Given the description of an element on the screen output the (x, y) to click on. 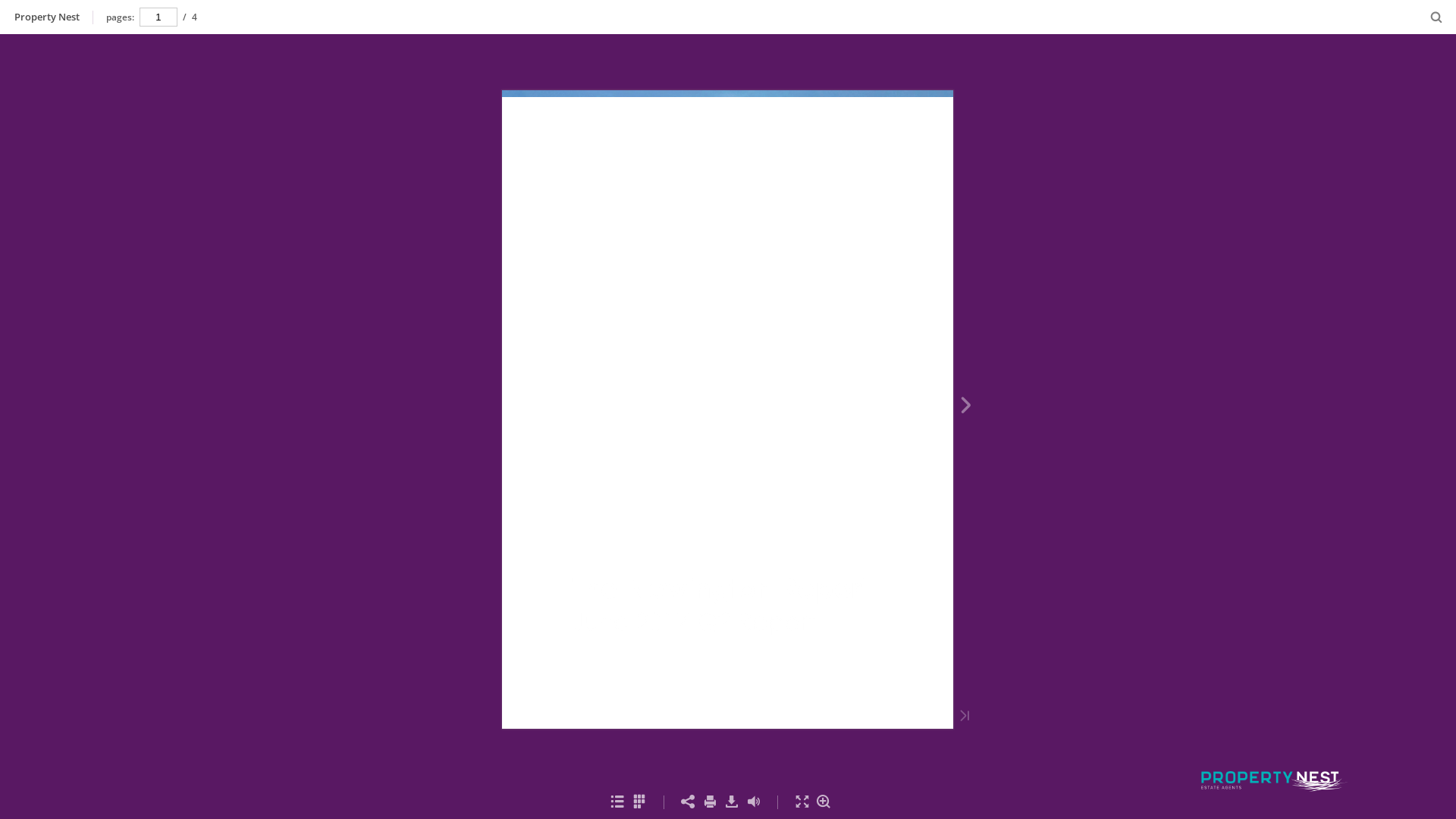
Download Element type: hover (731, 801)
Table of Contents Element type: hover (617, 801)
http://www.propertynest.com.au/ Element type: hover (856, 718)
Print Element type: hover (710, 801)
Share Element type: hover (688, 801)
Fullscreen Element type: hover (801, 801)
Visit http://propertynest.com.au/ Element type: hover (1274, 672)
Toggle Sound Element type: hover (753, 801)
Thumbnails Element type: hover (639, 801)
Zoom In Element type: hover (823, 801)
